Given the description of an element on the screen output the (x, y) to click on. 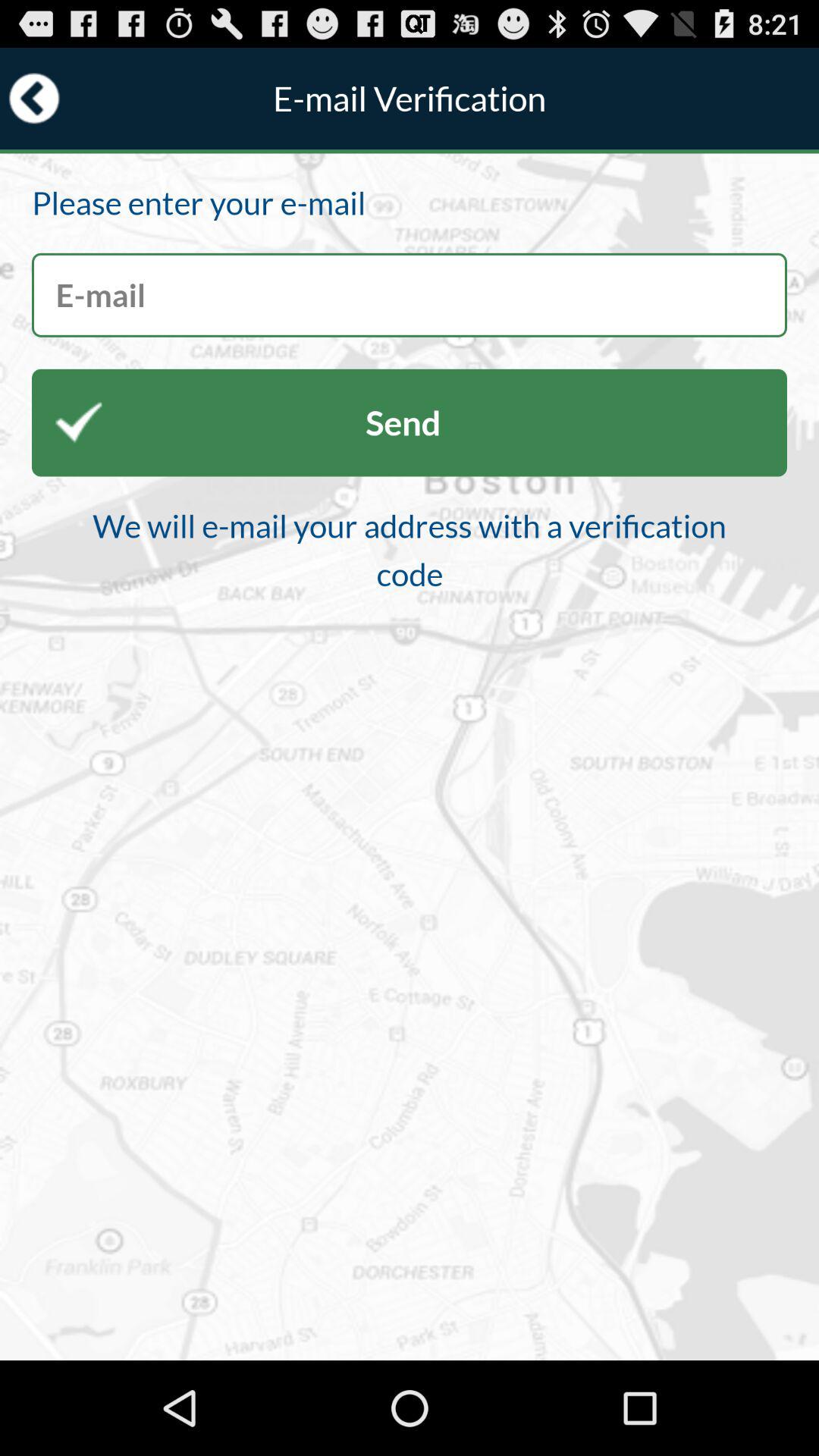
e-mail input element (409, 295)
